Given the description of an element on the screen output the (x, y) to click on. 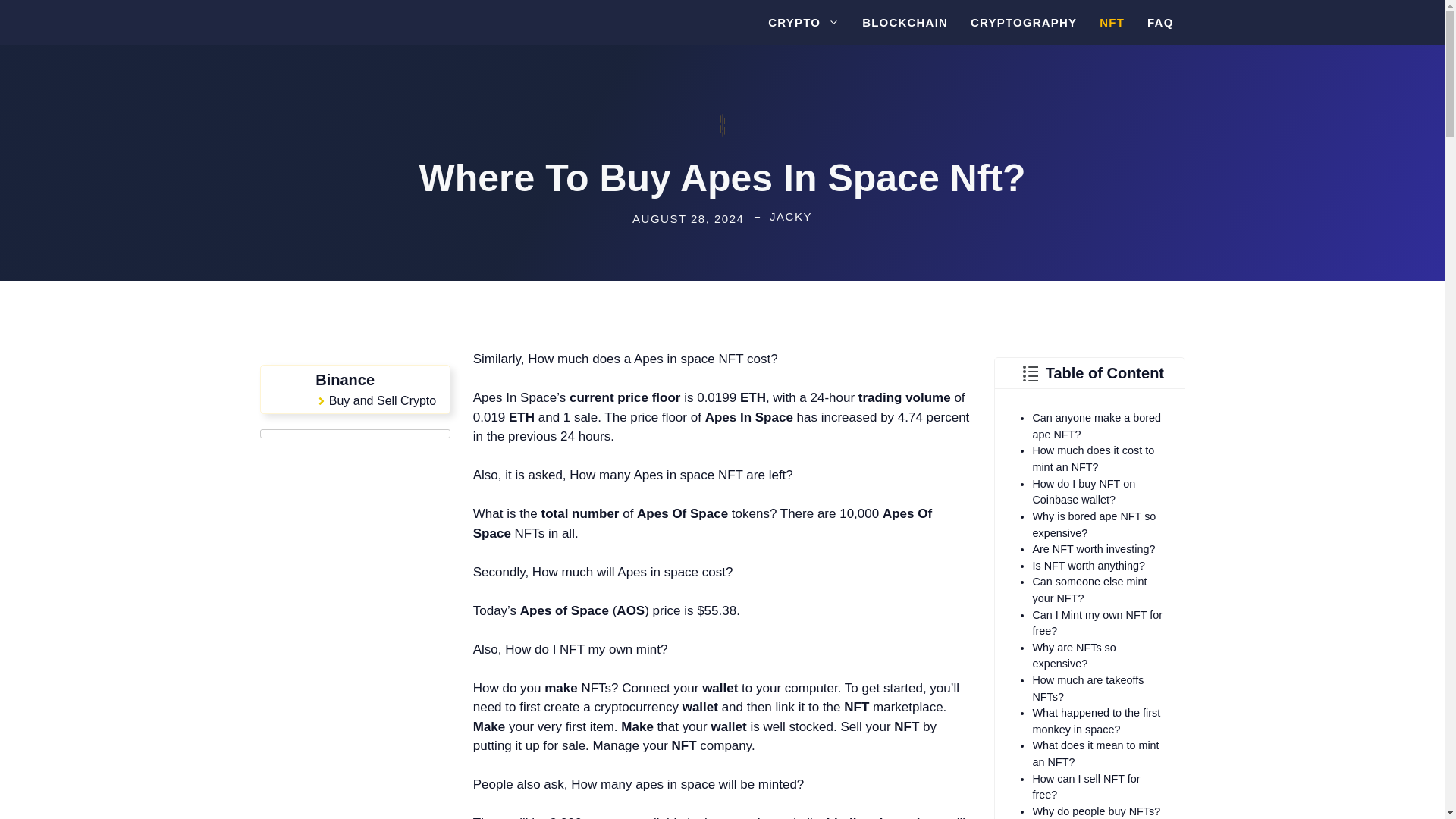
What does it mean to mint an NFT? (1095, 753)
NFT (1111, 22)
How much does it cost to mint an NFT? (1093, 458)
CRYPTO (803, 22)
Why are NFTs so expensive? (1073, 655)
How can I sell NFT for free? (1086, 787)
Are NFT worth investing? (1093, 548)
Why is bored ape NFT so expensive? (1094, 524)
What happened to the first monkey in space? (1096, 720)
How do I buy NFT on Coinbase wallet? (1083, 491)
